Given the description of an element on the screen output the (x, y) to click on. 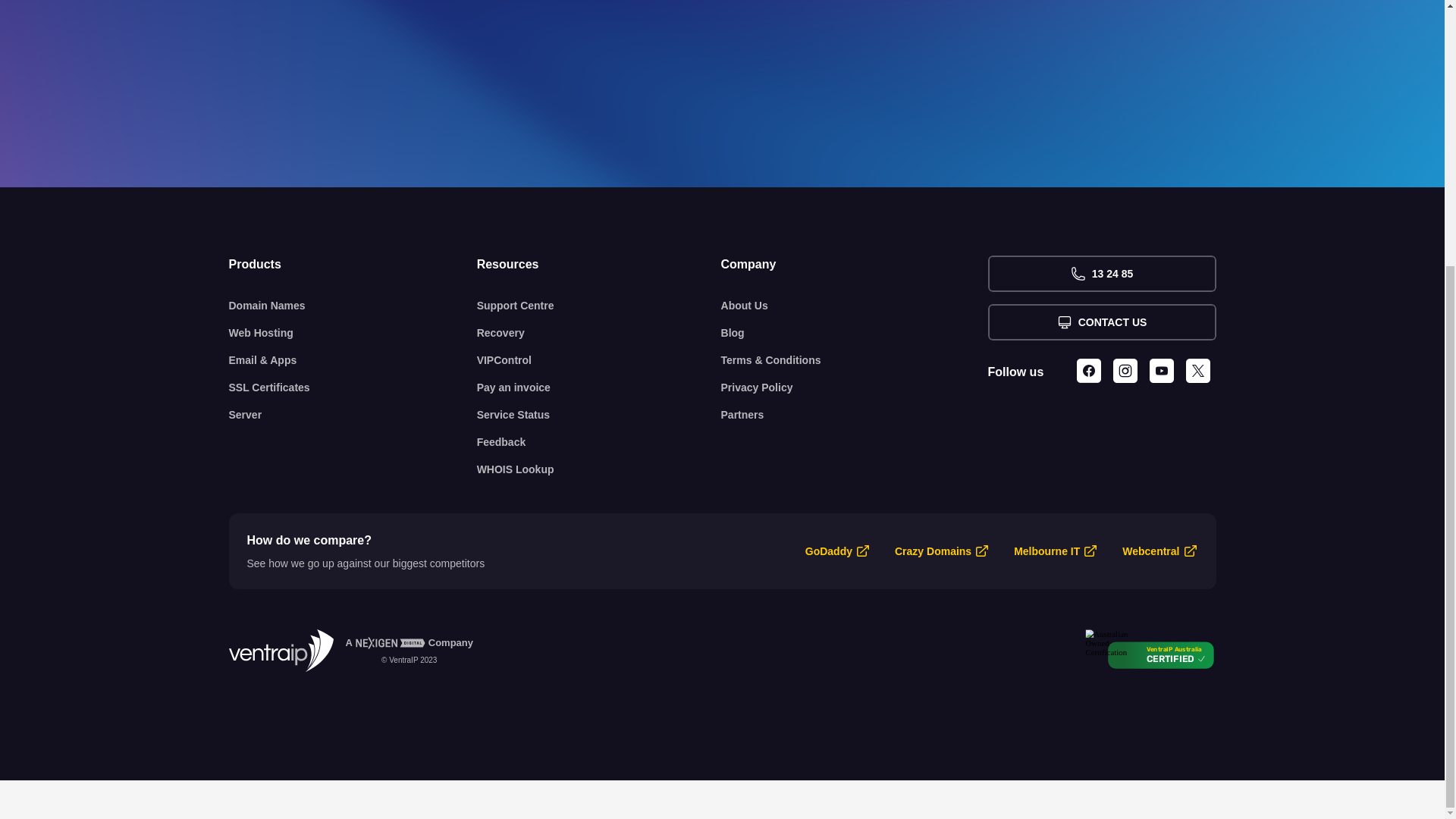
Support Centre (598, 305)
Service Status (598, 414)
Webcentral (1150, 550)
Blog (854, 332)
GoDaddy (828, 550)
Web Hosting (352, 332)
VIPControl (598, 359)
Recovery (598, 332)
Feedback (598, 441)
Pay an invoice (598, 387)
